Given the description of an element on the screen output the (x, y) to click on. 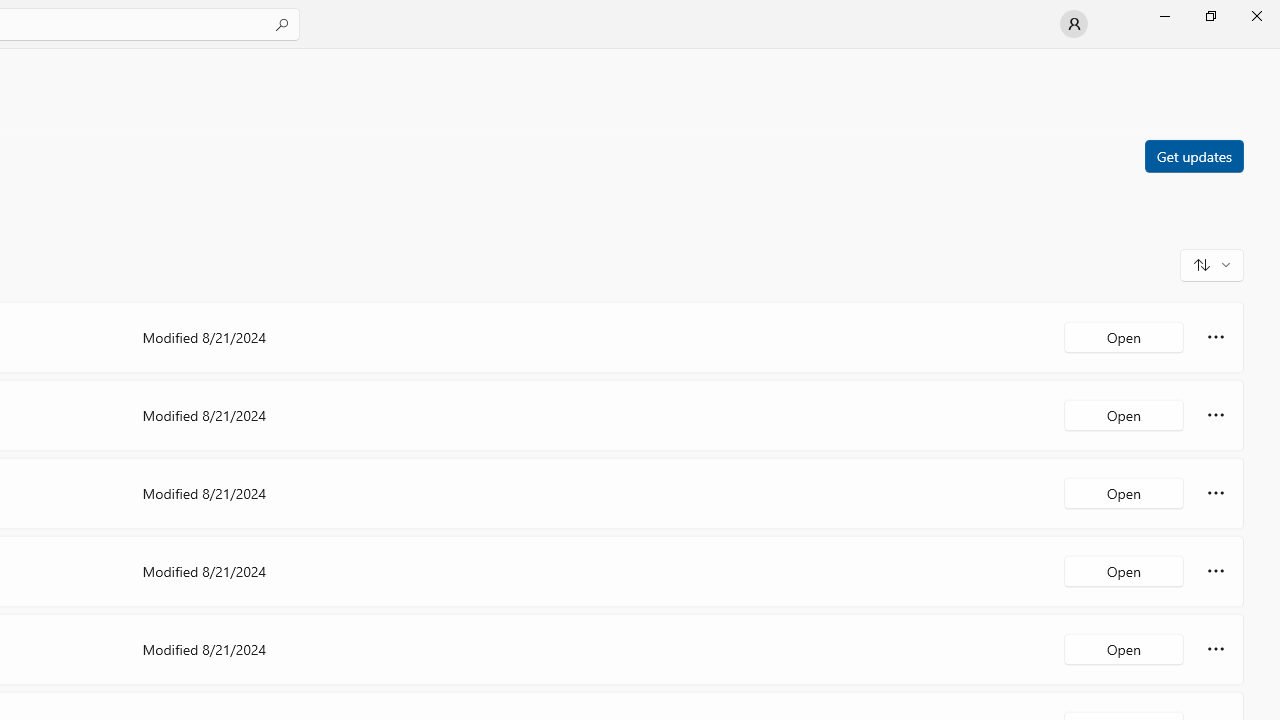
Get updates (1193, 155)
Open (1123, 648)
Sort and filter (1212, 263)
More options (1215, 648)
